Given the description of an element on the screen output the (x, y) to click on. 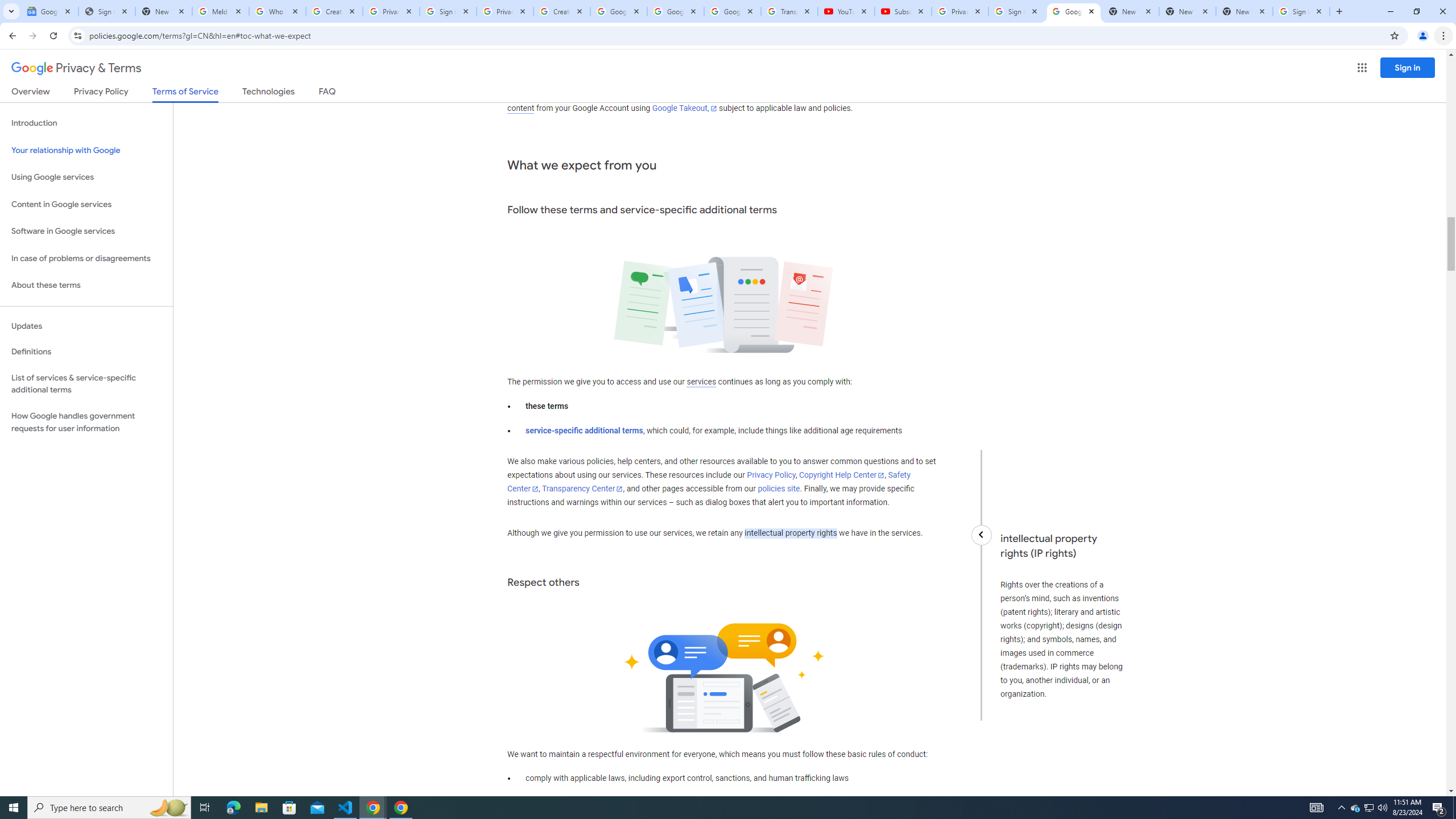
Who is my administrator? - Google Account Help (277, 11)
Google News (49, 11)
intellectual property rights (790, 533)
